Given the description of an element on the screen output the (x, y) to click on. 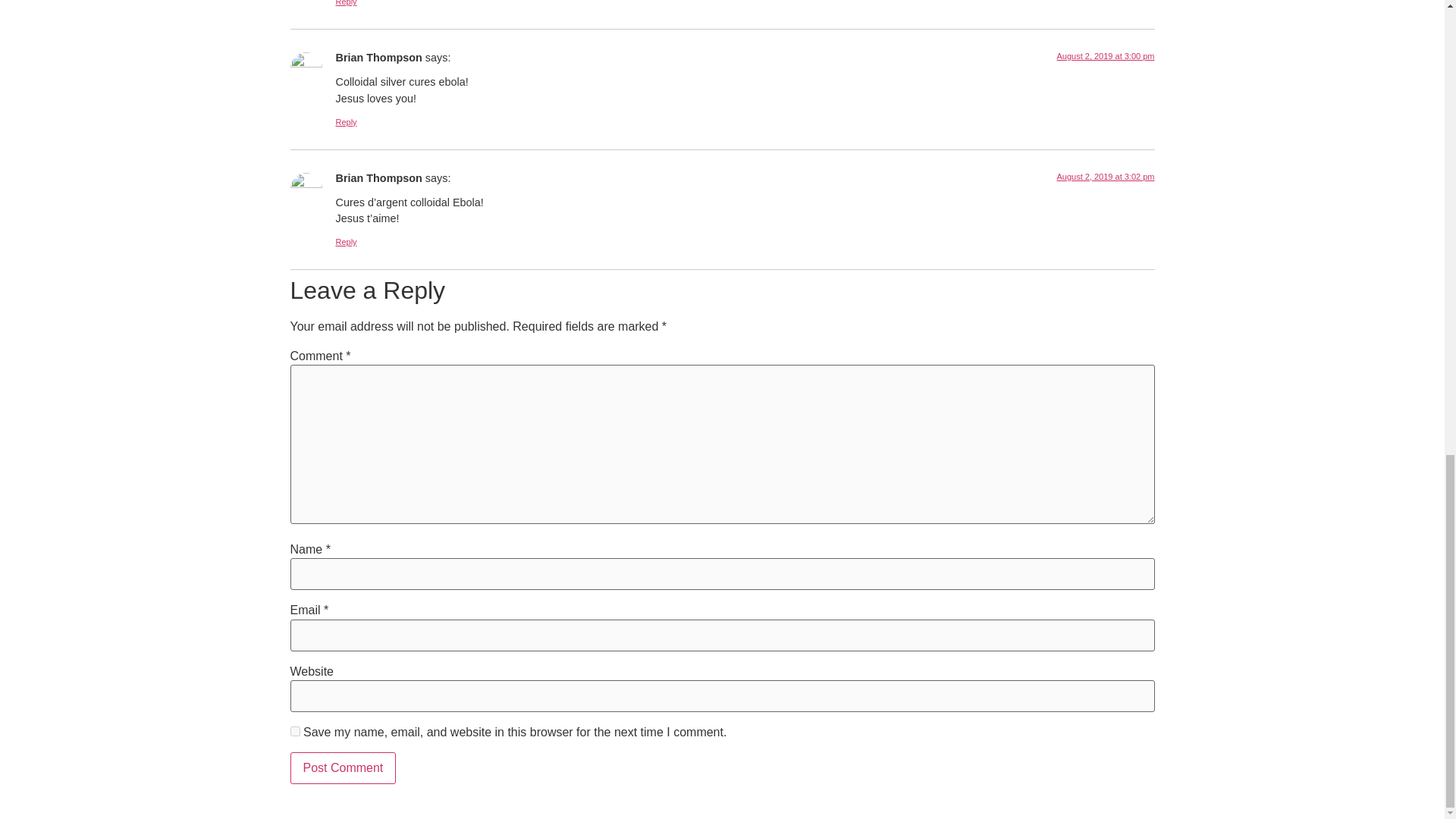
Reply (345, 241)
Post Comment (342, 767)
Post Comment (342, 767)
August 2, 2019 at 3:02 pm (1105, 175)
Reply (345, 121)
August 2, 2019 at 3:00 pm (1105, 55)
Reply (345, 2)
yes (294, 730)
